Given the description of an element on the screen output the (x, y) to click on. 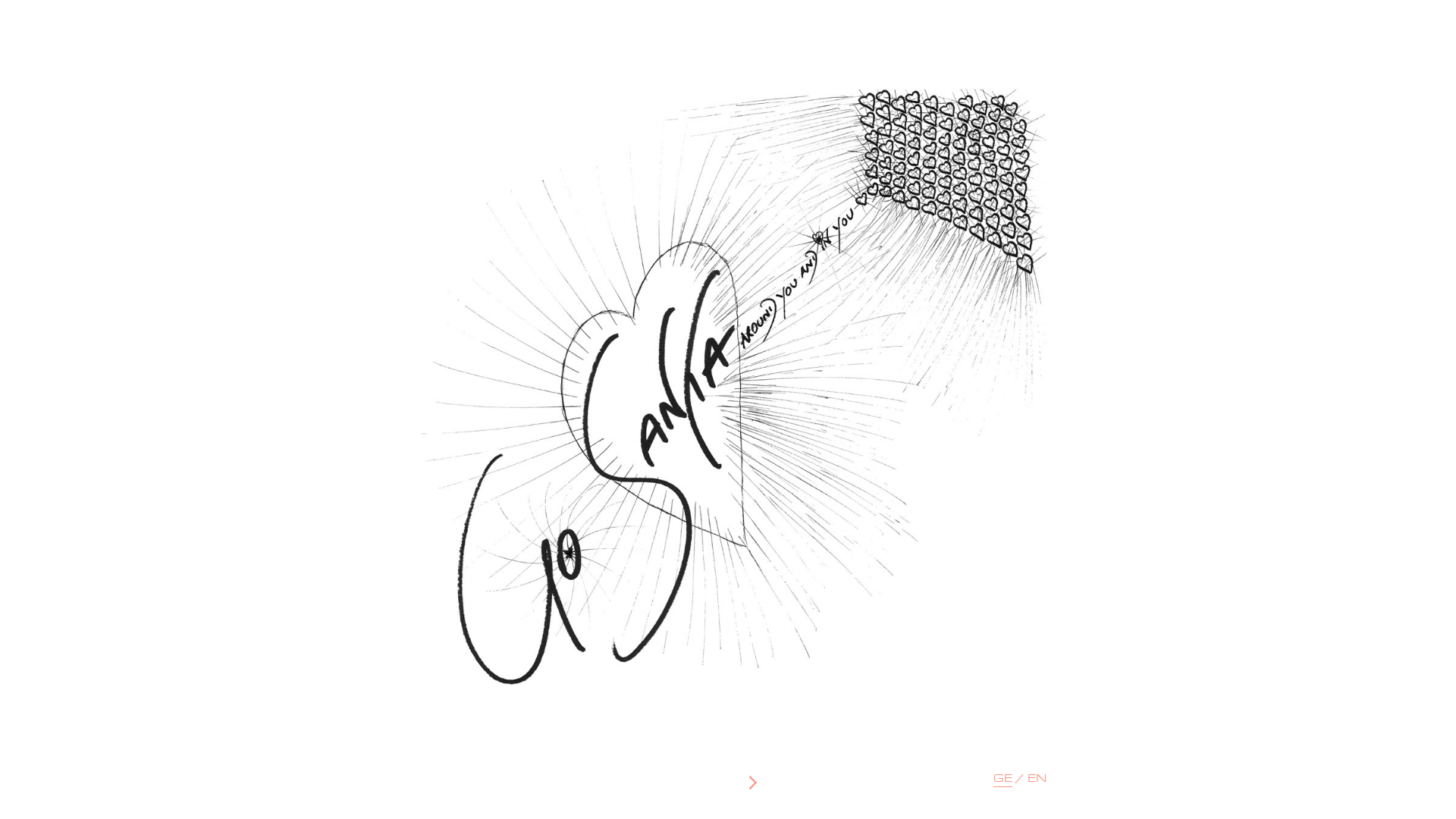
EN Element type: text (1036, 779)
GE Element type: text (1002, 780)
